Given the description of an element on the screen output the (x, y) to click on. 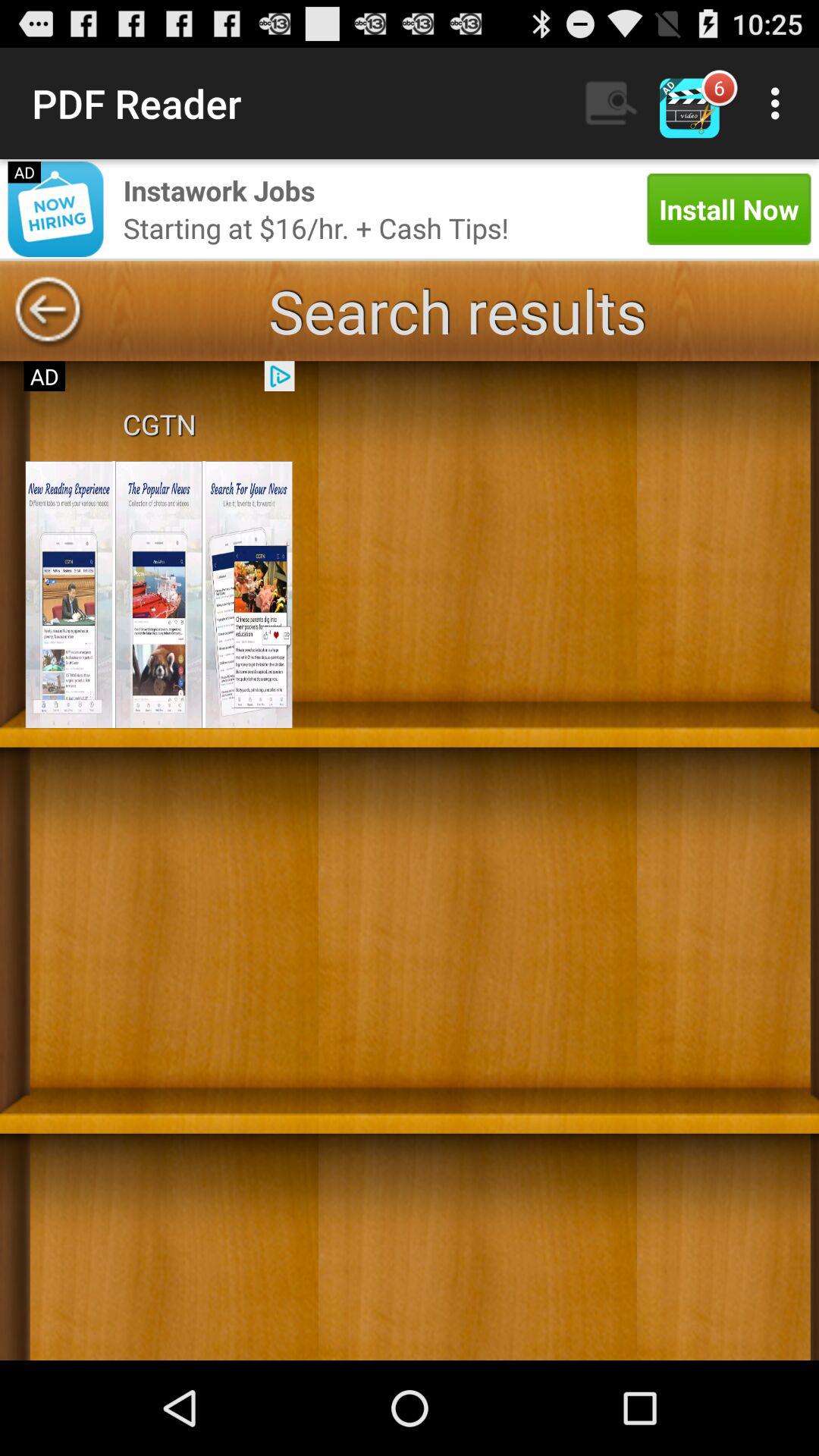
open (158, 594)
